Given the description of an element on the screen output the (x, y) to click on. 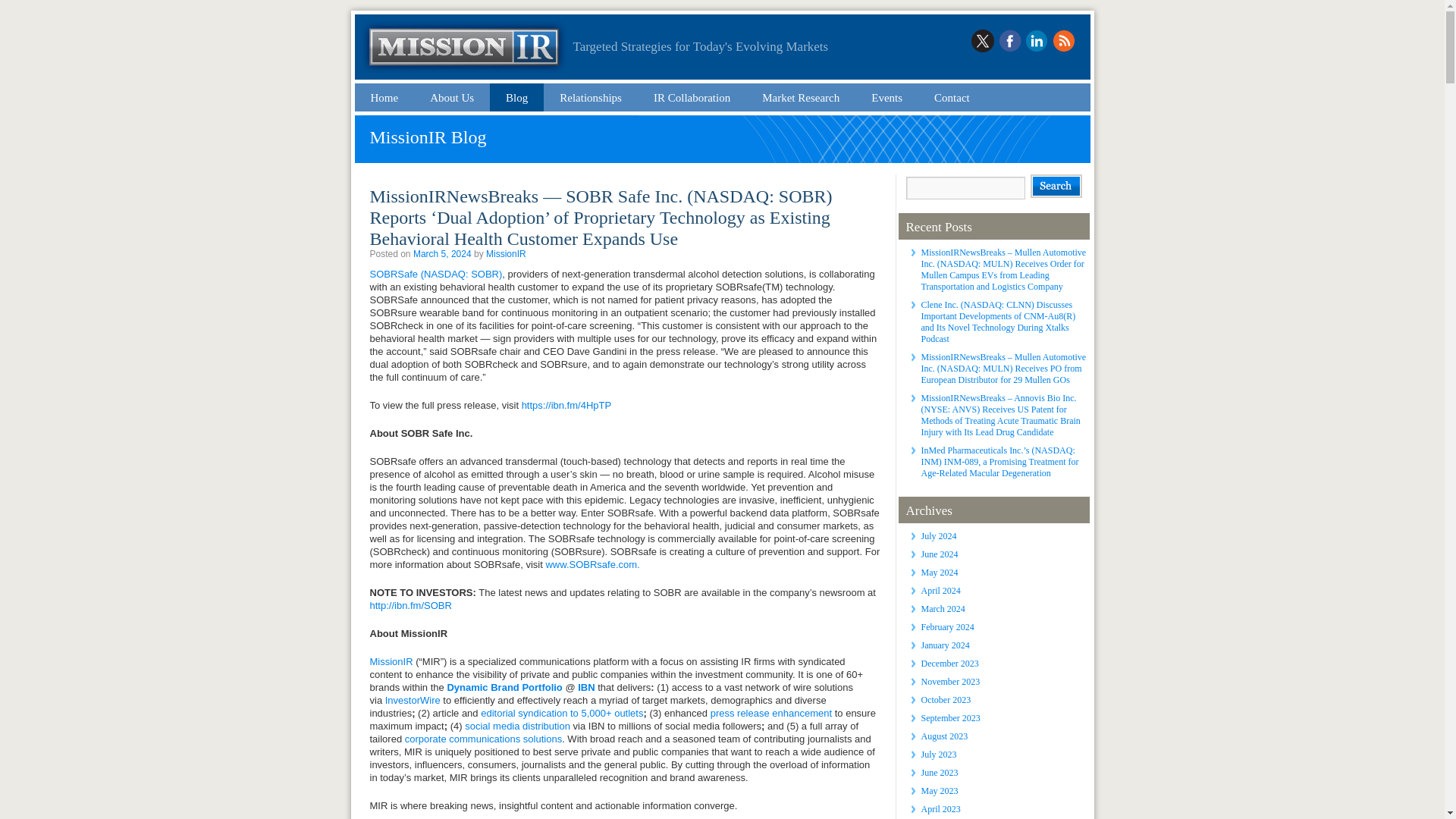
social media distribution (517, 726)
Relationships (590, 97)
Market Research (800, 97)
Contact (952, 97)
2:02 pm (442, 253)
IBN (586, 686)
www.SOBRsafe.com. (591, 564)
Events (887, 97)
MissionIR (505, 253)
press release enhancement (770, 713)
March 5, 2024 (442, 253)
Dynamic Brand Portfolio (504, 686)
IR Collaboration (691, 97)
About Us (451, 97)
corporate communications solutions (483, 738)
